Given the description of an element on the screen output the (x, y) to click on. 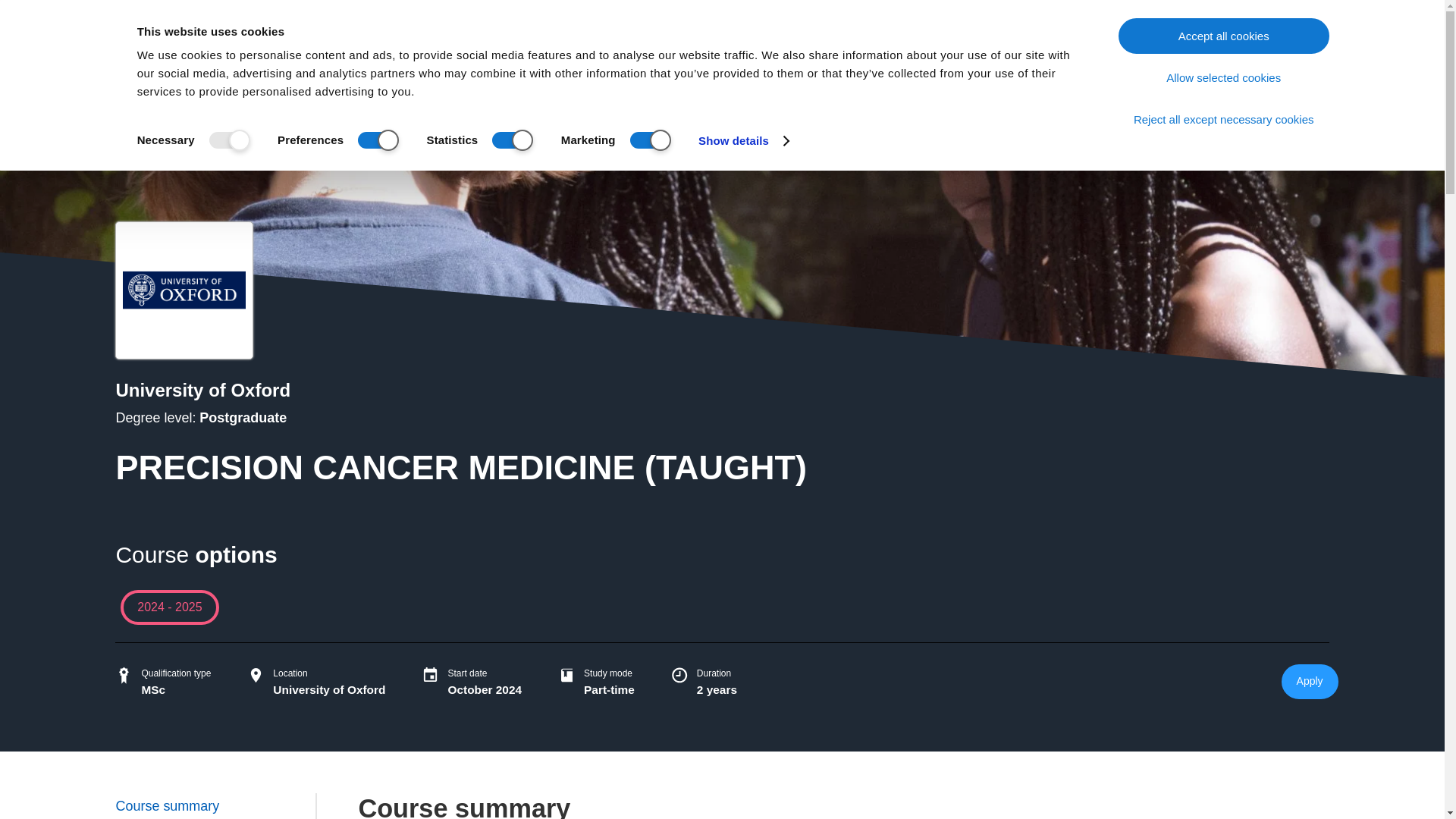
Show details (742, 140)
